Given the description of an element on the screen output the (x, y) to click on. 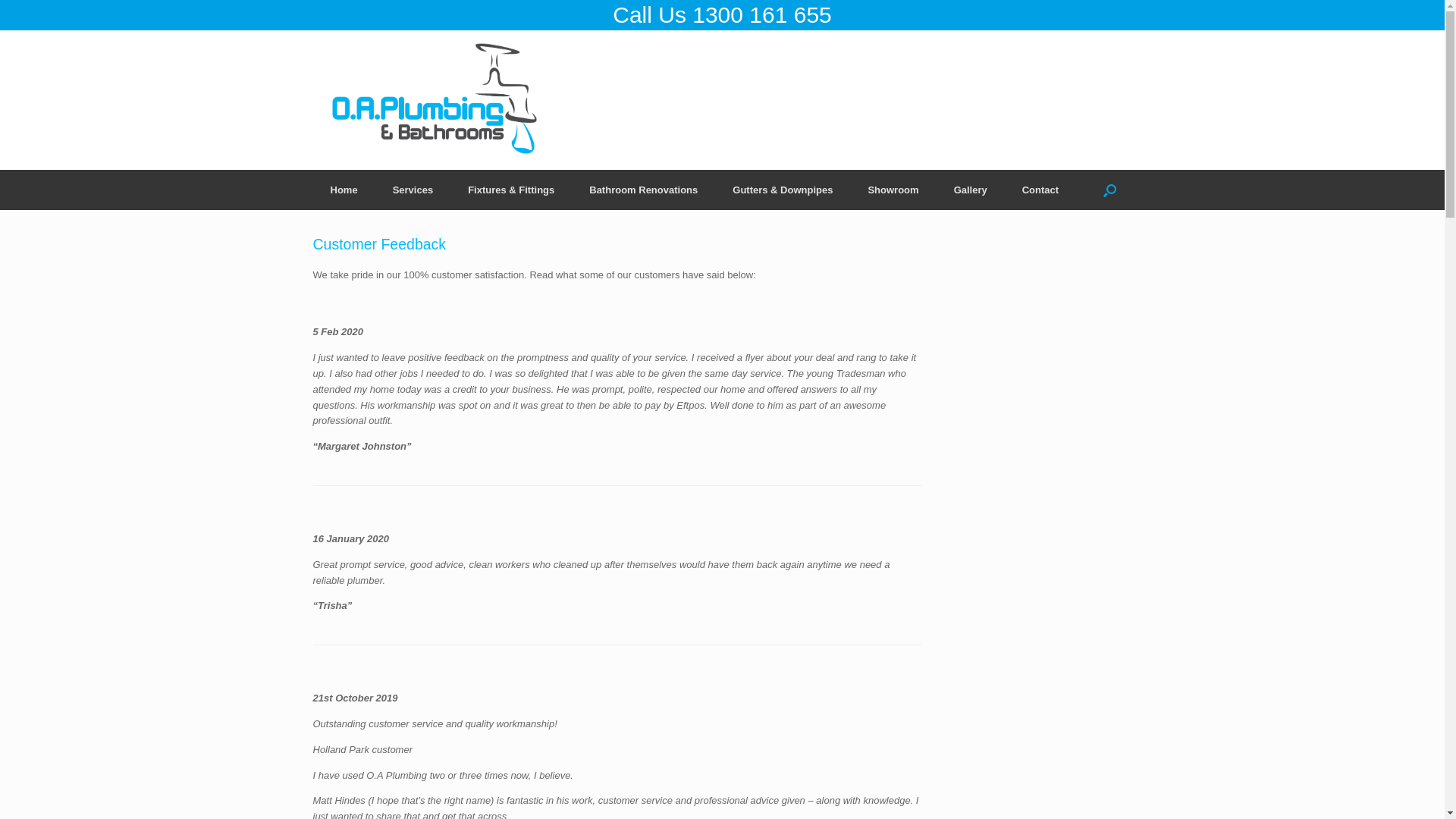
Showroom Element type: text (892, 189)
Fixtures & Fittings Element type: text (510, 189)
Gutters & Downpipes Element type: text (782, 189)
Call Us 1300 161 655 Element type: text (721, 14)
Gallery Element type: text (970, 189)
Bathroom Renovations Element type: text (643, 189)
Contact Element type: text (1040, 189)
Services Element type: text (413, 189)
Home Element type: text (343, 189)
